Given the description of an element on the screen output the (x, y) to click on. 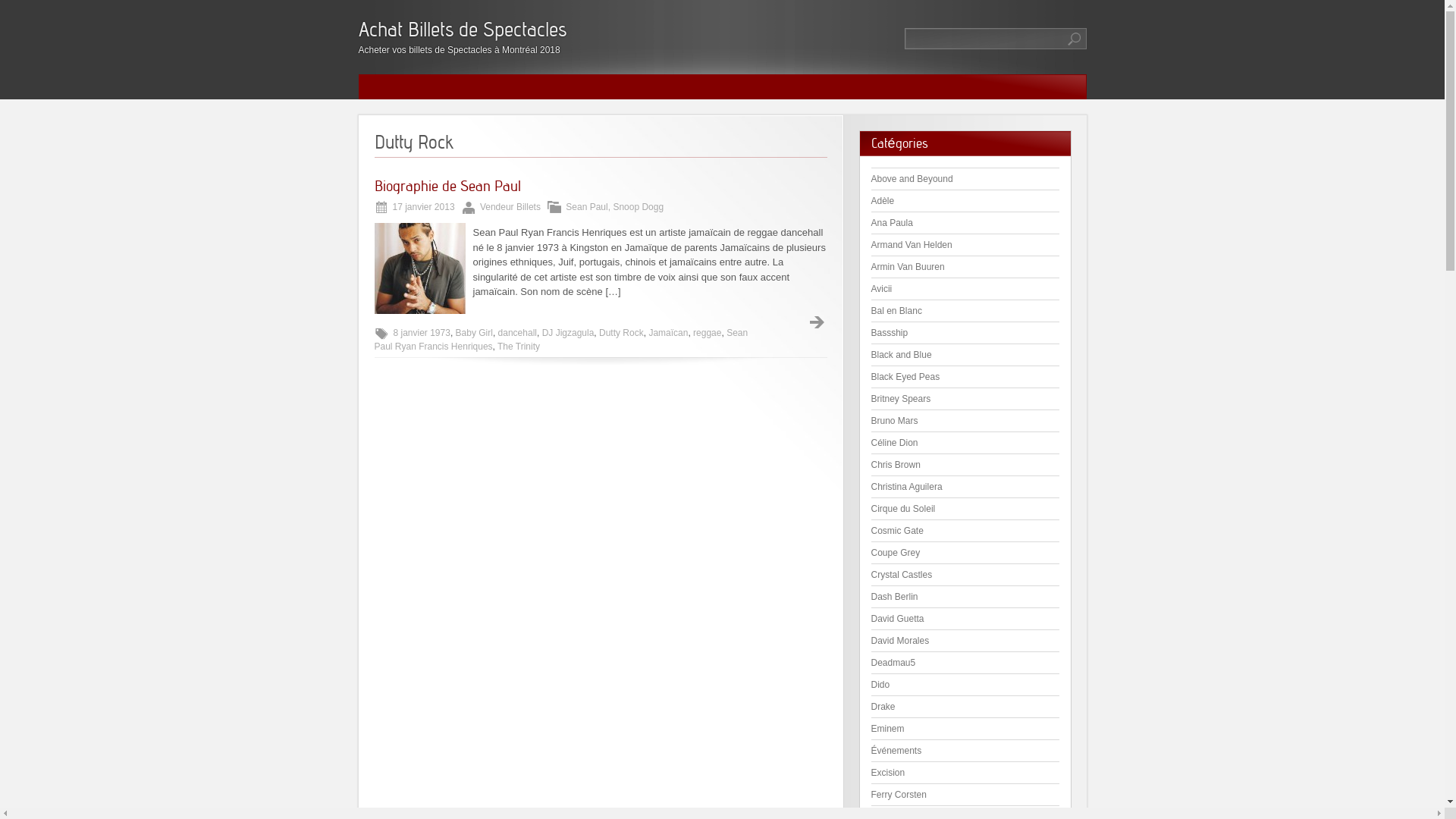
Bal en Blanc Element type: text (895, 310)
  Element type: text (817, 322)
Chris Brown Element type: text (894, 464)
Dido Element type: text (879, 684)
Avicii Element type: text (880, 288)
Dutty Rock Element type: text (621, 332)
dancehall Element type: text (517, 332)
Baby Girl Element type: text (473, 332)
Coupe Grey Element type: text (894, 552)
Ana Paula Element type: text (891, 222)
Search Element type: text (1074, 38)
Christina Aguilera Element type: text (905, 486)
David Morales Element type: text (899, 640)
Ferry Corsten Element type: text (897, 794)
Bruno Mars Element type: text (893, 420)
Sean Paul Element type: text (586, 206)
reggae Element type: text (707, 332)
Excision Element type: text (887, 772)
David Guetta Element type: text (896, 618)
Black and Blue Element type: text (900, 354)
Armand Van Helden Element type: text (910, 244)
Snoop Dogg Element type: text (637, 206)
DJ Jigzagula Element type: text (568, 332)
Achat Billets de Spectacles Element type: text (461, 28)
Crystal Castles Element type: text (900, 574)
Drake Element type: text (882, 706)
Deadmau5 Element type: text (892, 662)
Bassship Element type: text (888, 332)
Dash Berlin Element type: text (893, 596)
Above and Beyound Element type: text (911, 178)
Eminem Element type: text (886, 728)
Biographie de Sean Paul Element type: text (447, 185)
Black Eyed Peas Element type: text (904, 376)
The Trinity Element type: text (518, 346)
Armin Van Buuren Element type: text (907, 266)
Cirque du Soleil Element type: text (902, 508)
Britney Spears Element type: text (900, 398)
8 janvier 1973 Element type: text (420, 332)
Cosmic Gate Element type: text (896, 530)
Sean Paul Ryan Francis Henriques Element type: text (561, 339)
